Given the description of an element on the screen output the (x, y) to click on. 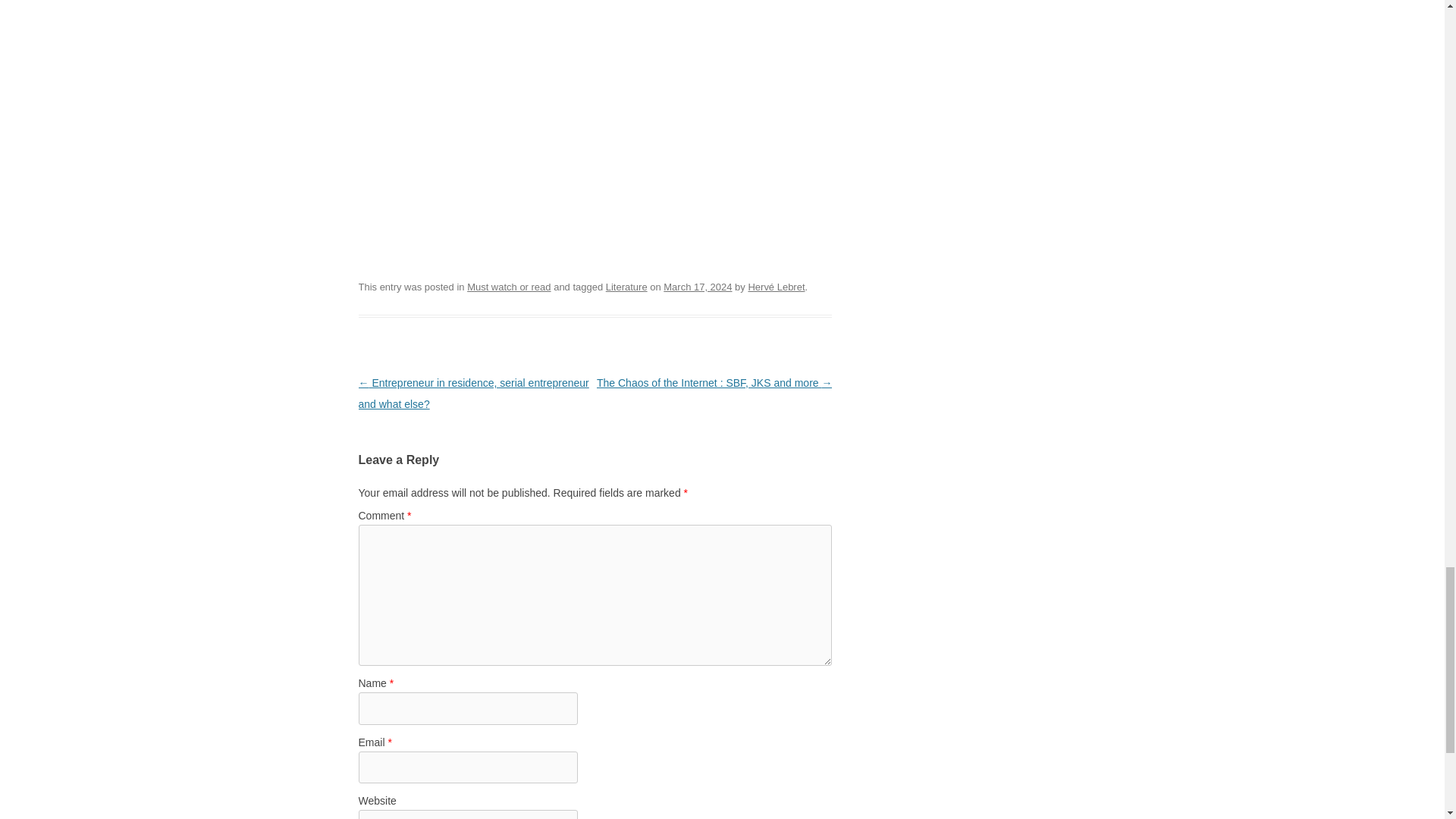
March 17, 2024 (697, 286)
Literature (626, 286)
Must watch or read (508, 286)
11:34 pm (697, 286)
YouTube video player (570, 118)
